Given the description of an element on the screen output the (x, y) to click on. 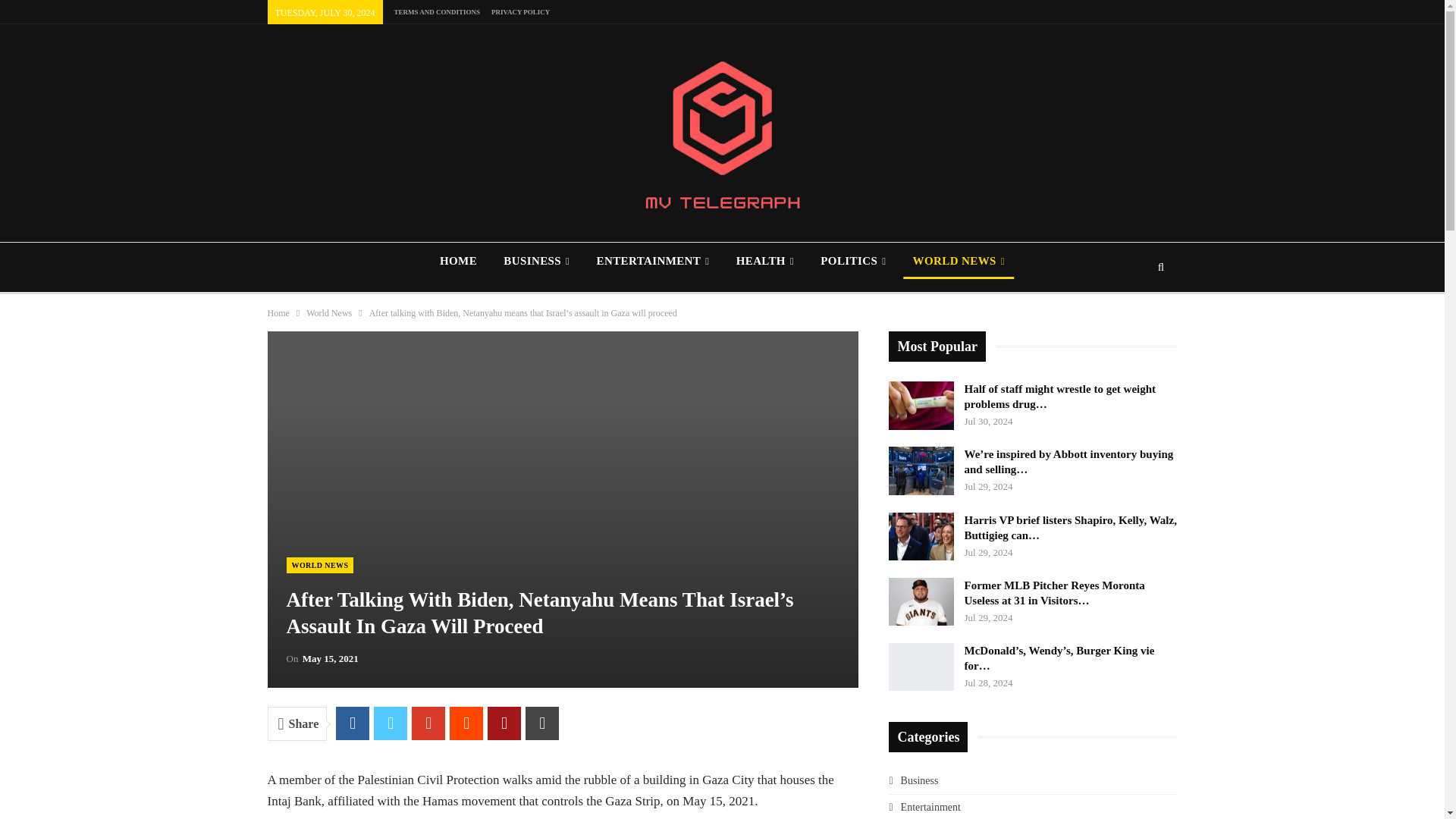
BUSINESS (536, 260)
HEALTH (764, 260)
TERMS AND CONDITIONS (437, 11)
PRIVACY POLICY (521, 11)
HOME (458, 260)
ENTERTAINMENT (651, 260)
